Given the description of an element on the screen output the (x, y) to click on. 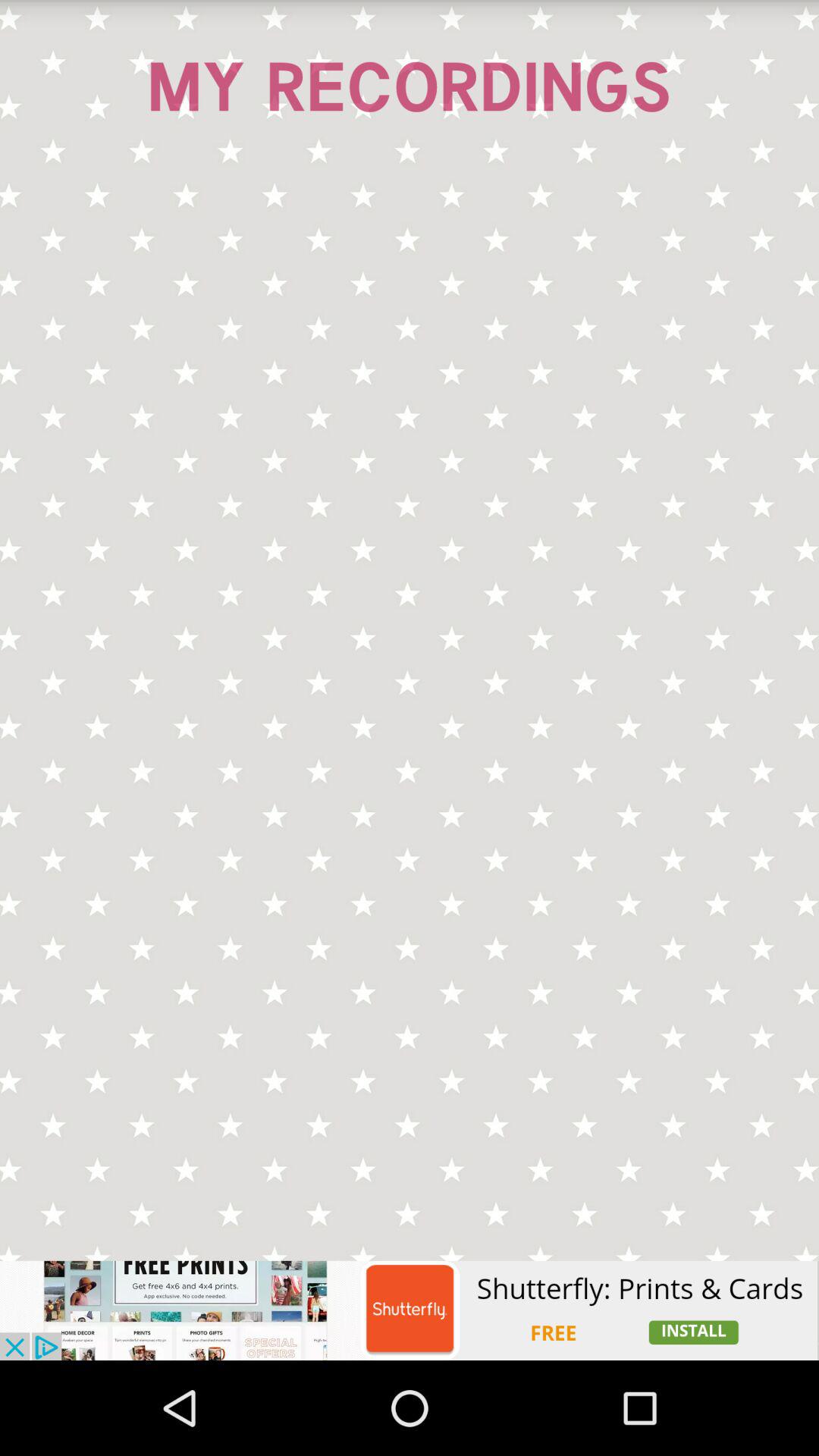
view your recordings (409, 713)
